Given the description of an element on the screen output the (x, y) to click on. 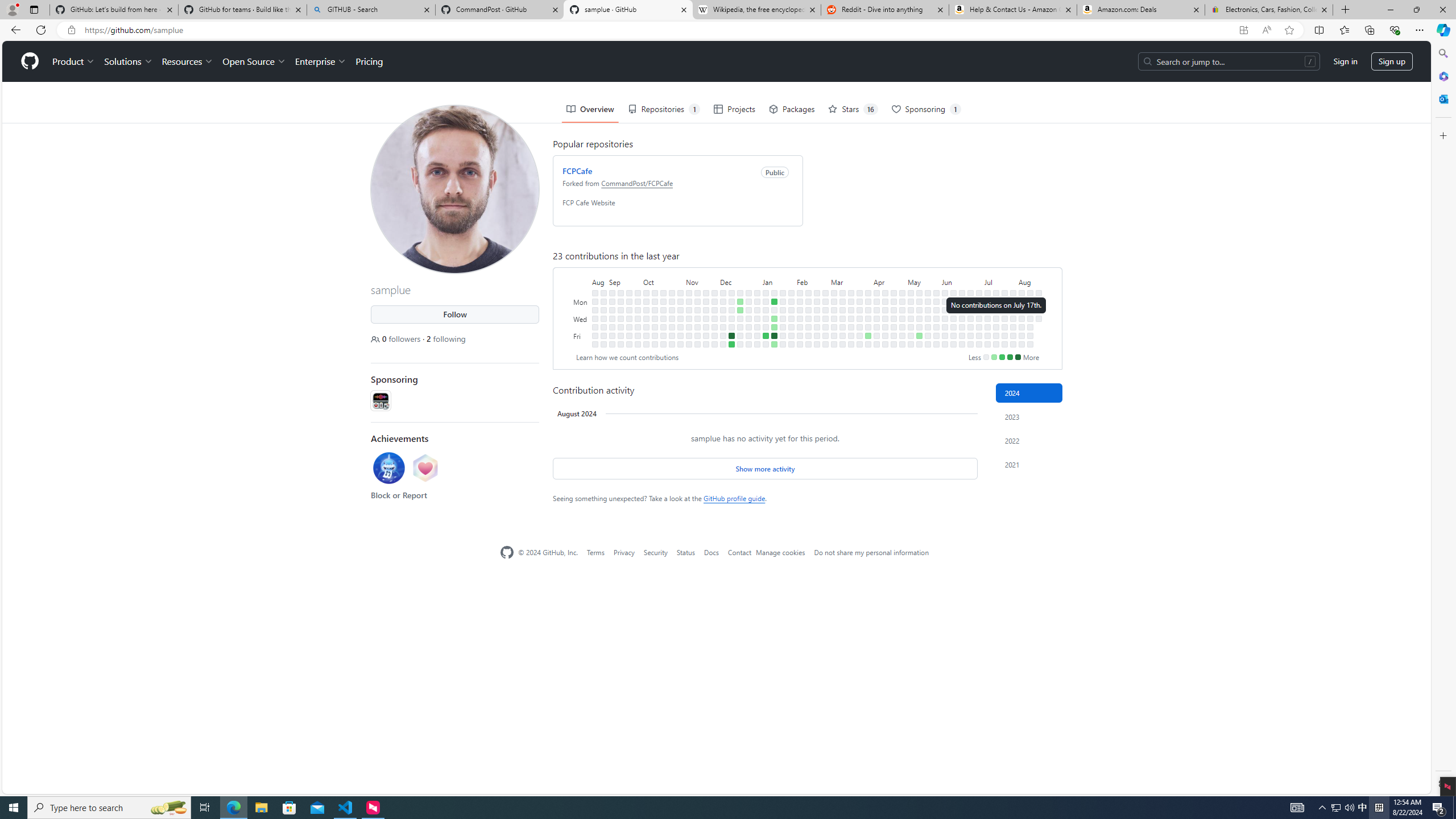
1 contribution on April 5th. (867, 335)
No contributions on March 18th. (850, 301)
No contributions on December 10th. (731, 292)
No contributions on December 6th. (723, 318)
No contributions on July 14th. (995, 292)
No contributions on November 3rd. (680, 335)
No contributions on July 31st. (1013, 318)
No contributions on October 27th. (671, 335)
4 contributions on January 19th. (774, 335)
No contributions on October 25th. (671, 318)
Solutions (128, 60)
2022 (1028, 440)
No contributions on October 24th. (671, 309)
No contributions on September 26th. (637, 309)
No contributions on October 3rd. (646, 309)
